Given the description of an element on the screen output the (x, y) to click on. 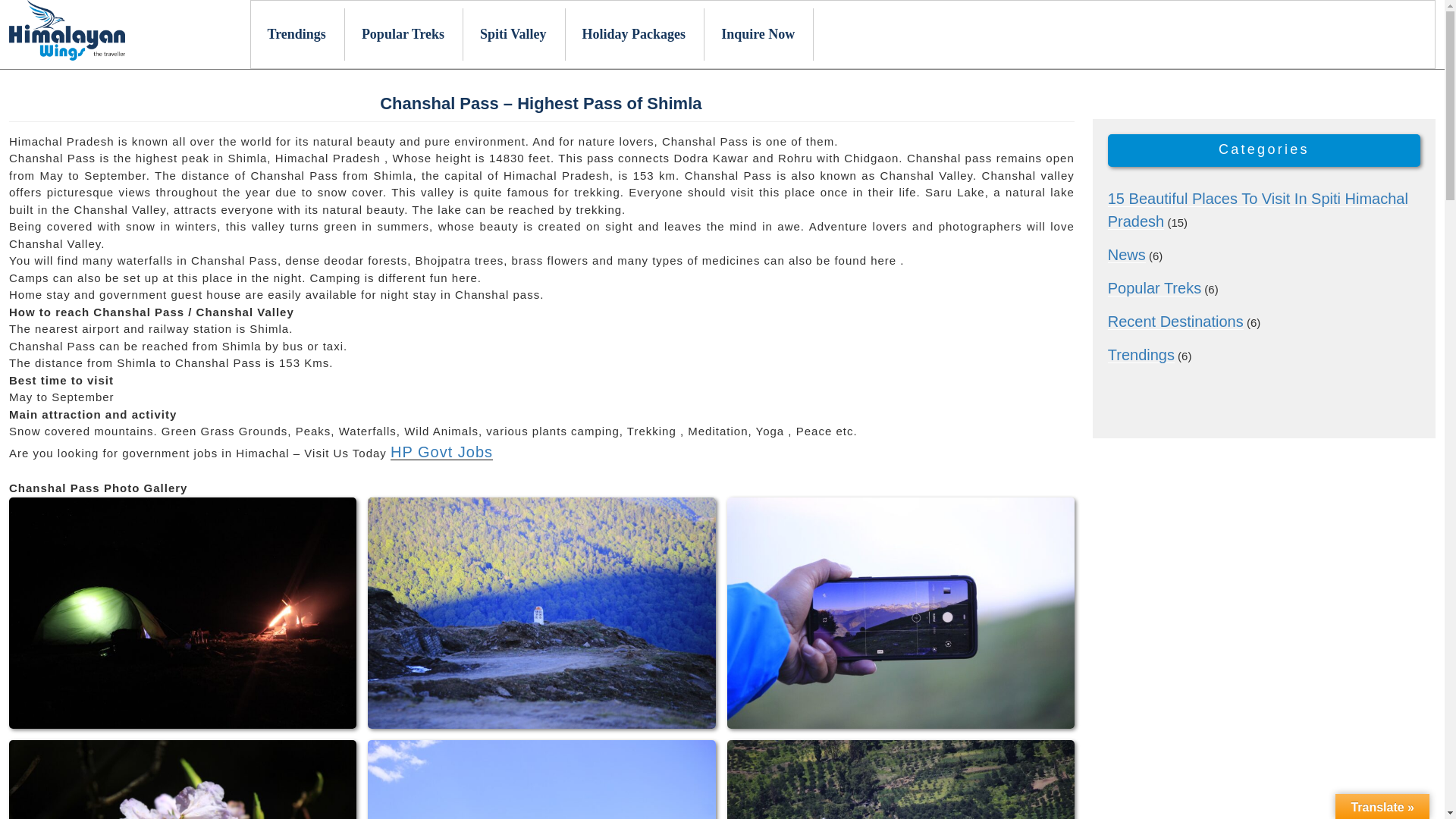
Inquire Now (758, 34)
Popular Treks (1154, 288)
Trendings (296, 34)
Trendings (1141, 354)
Popular Treks (404, 34)
15 Beautiful Places To Visit In Spiti Himachal Pradesh (1257, 210)
Holiday Packages (635, 34)
News (1126, 254)
Recent Destinations (1175, 321)
HP Govt Jobs (441, 451)
Spiti Valley (514, 34)
